Given the description of an element on the screen output the (x, y) to click on. 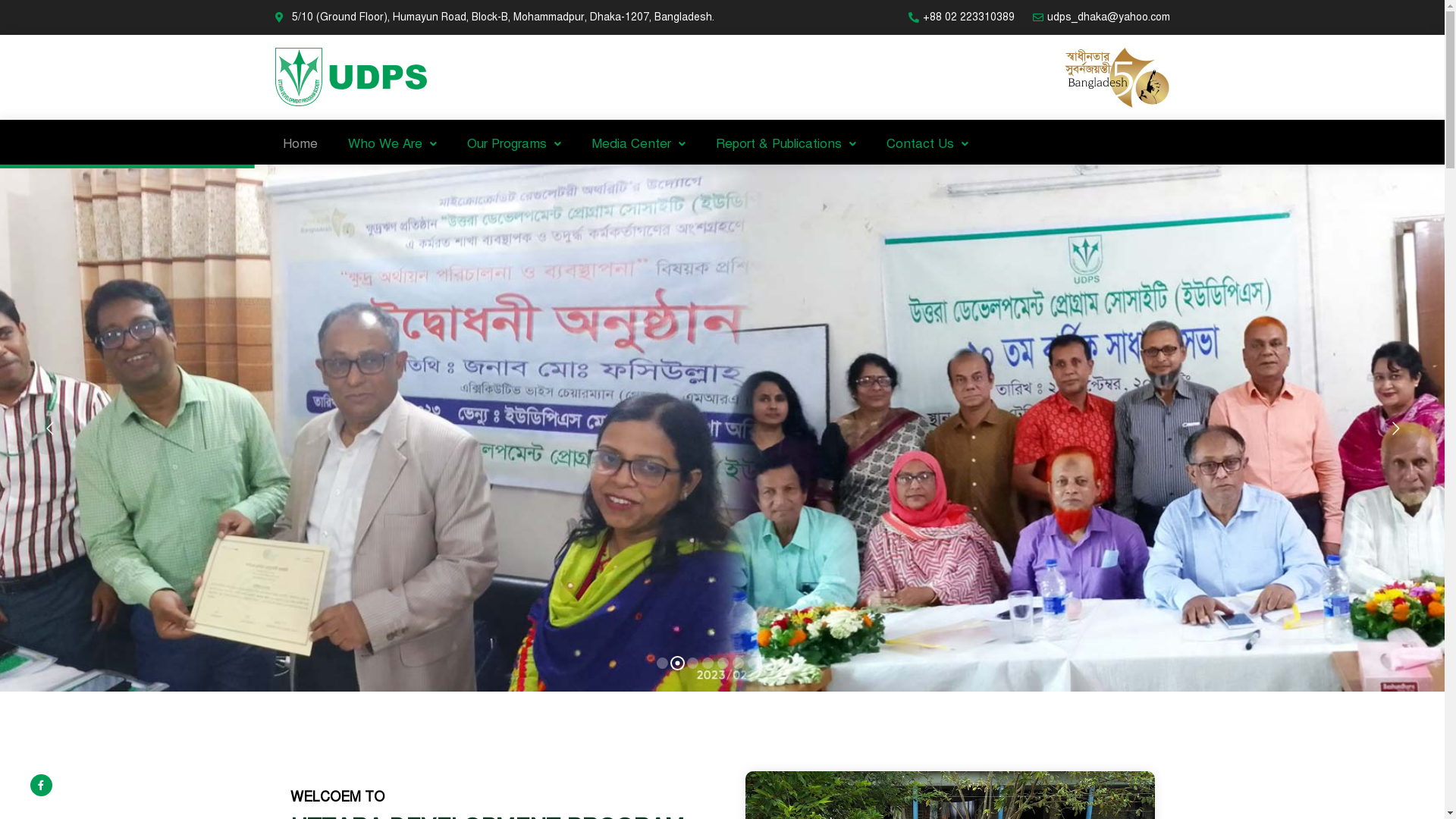
udps_dhaka@yahoo.com Element type: text (1099, 17)
Our Programs Element type: text (513, 143)
Who We Are Element type: text (391, 143)
Media Center Element type: text (638, 143)
Contact Us Element type: text (926, 143)
+88 02 223310389 Element type: text (959, 17)
Report & Publications Element type: text (785, 143)
Home Element type: text (299, 143)
